Given the description of an element on the screen output the (x, y) to click on. 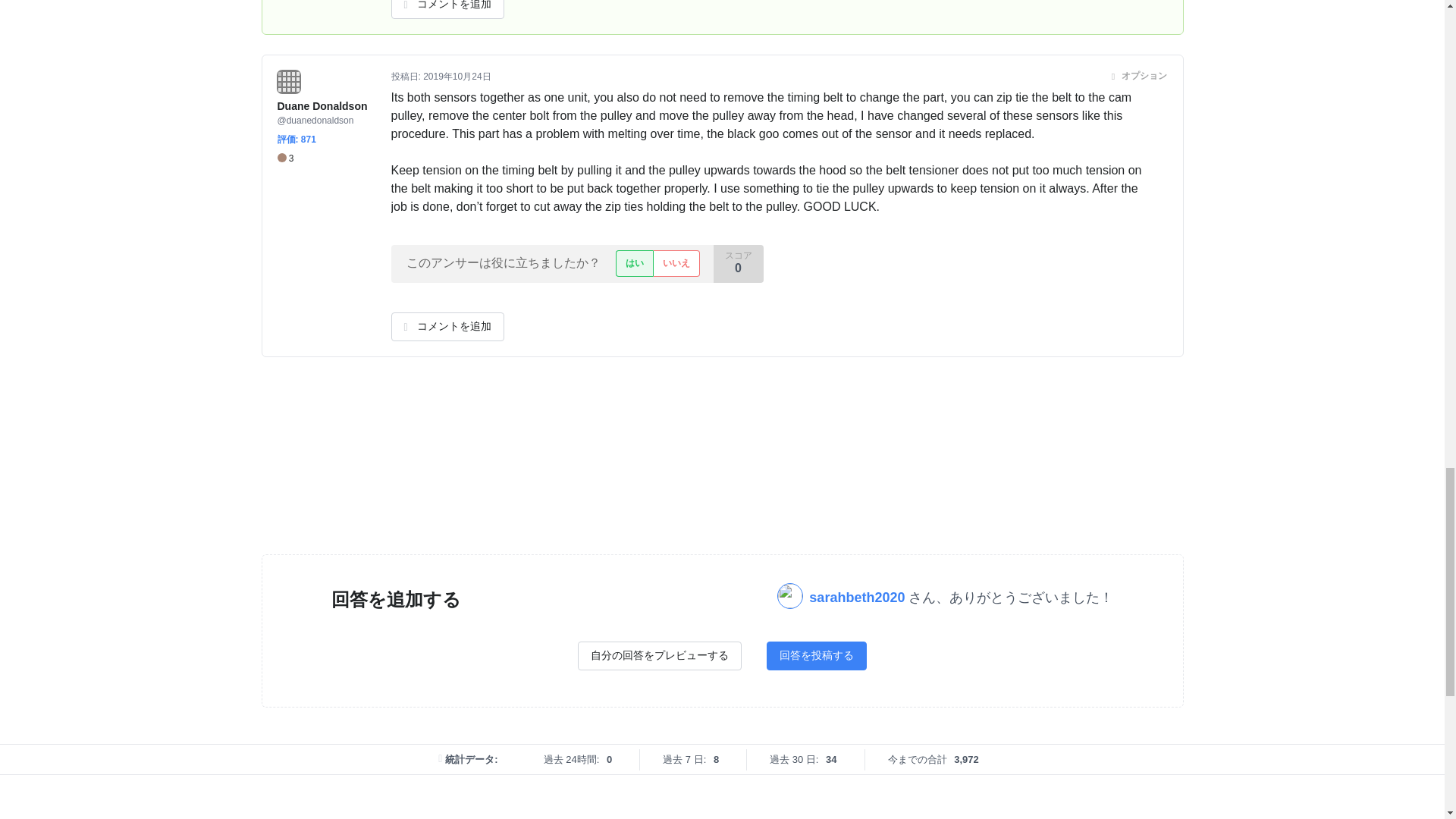
Thu, 24 Oct 2019 01:39:38 -0700 (456, 76)
